Given the description of an element on the screen output the (x, y) to click on. 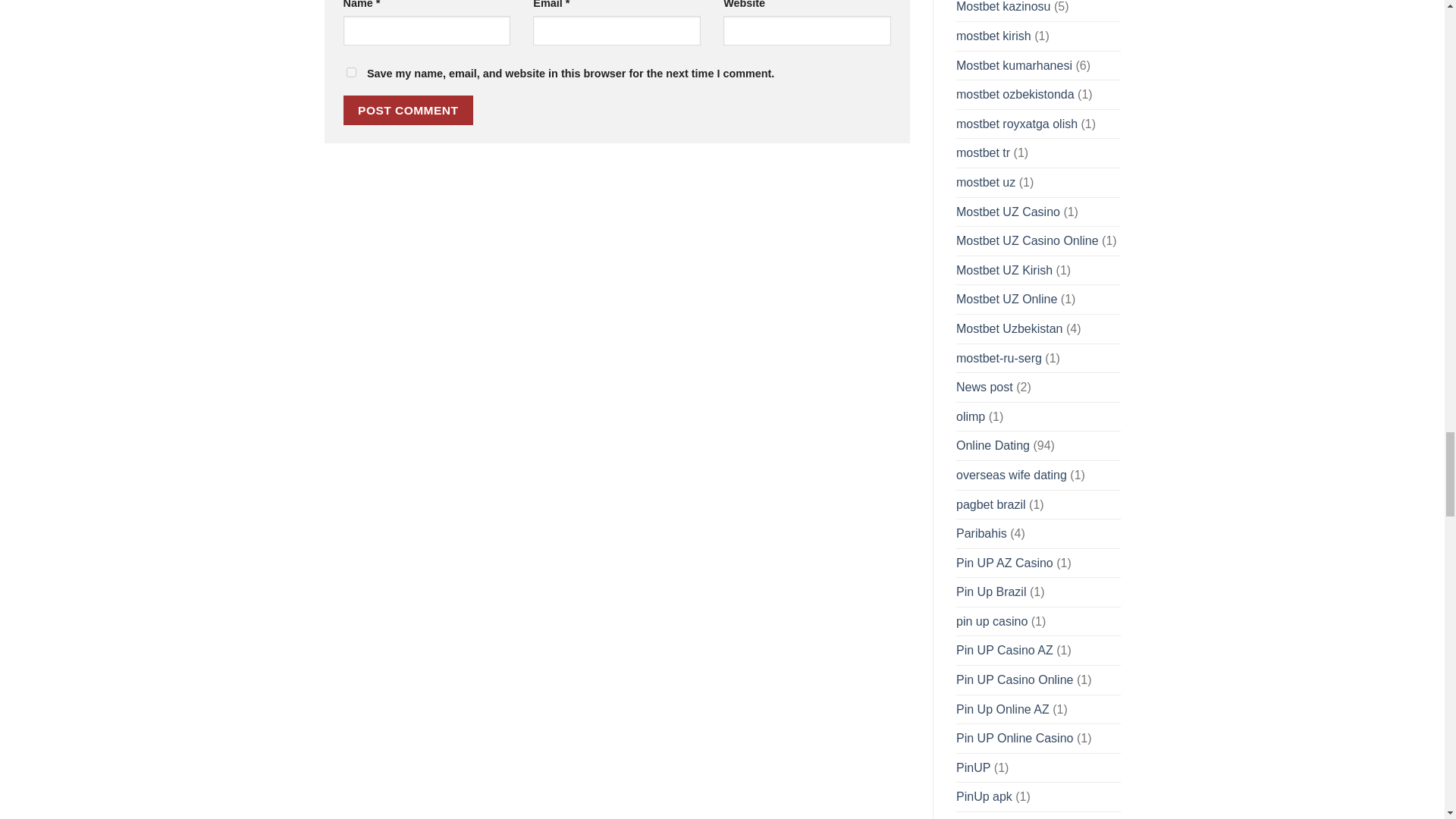
yes (350, 71)
Post Comment (407, 110)
Post Comment (407, 110)
